Given the description of an element on the screen output the (x, y) to click on. 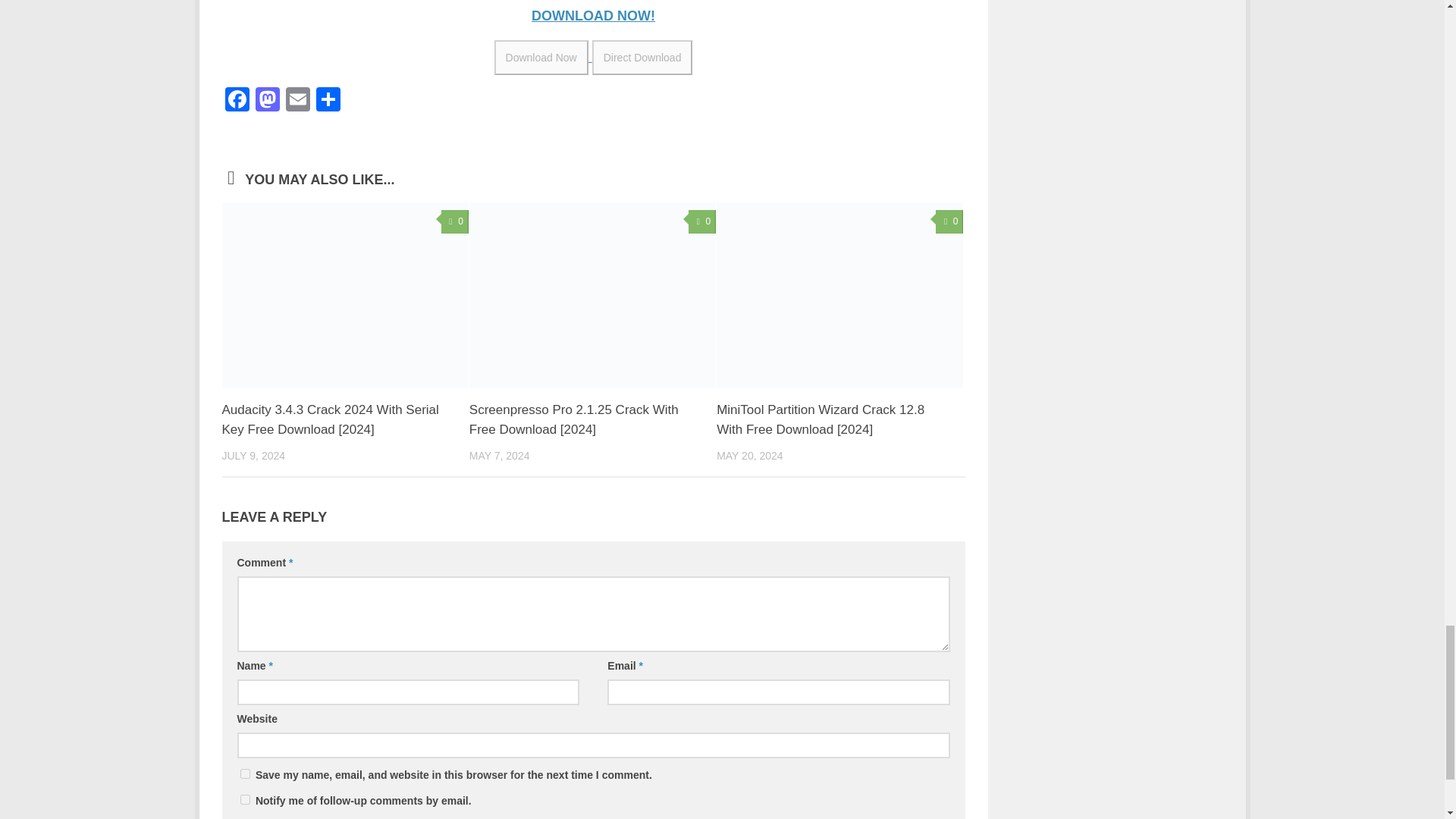
Facebook (236, 100)
Mastodon (266, 100)
Email (297, 100)
subscribe (244, 799)
yes (244, 773)
